Given the description of an element on the screen output the (x, y) to click on. 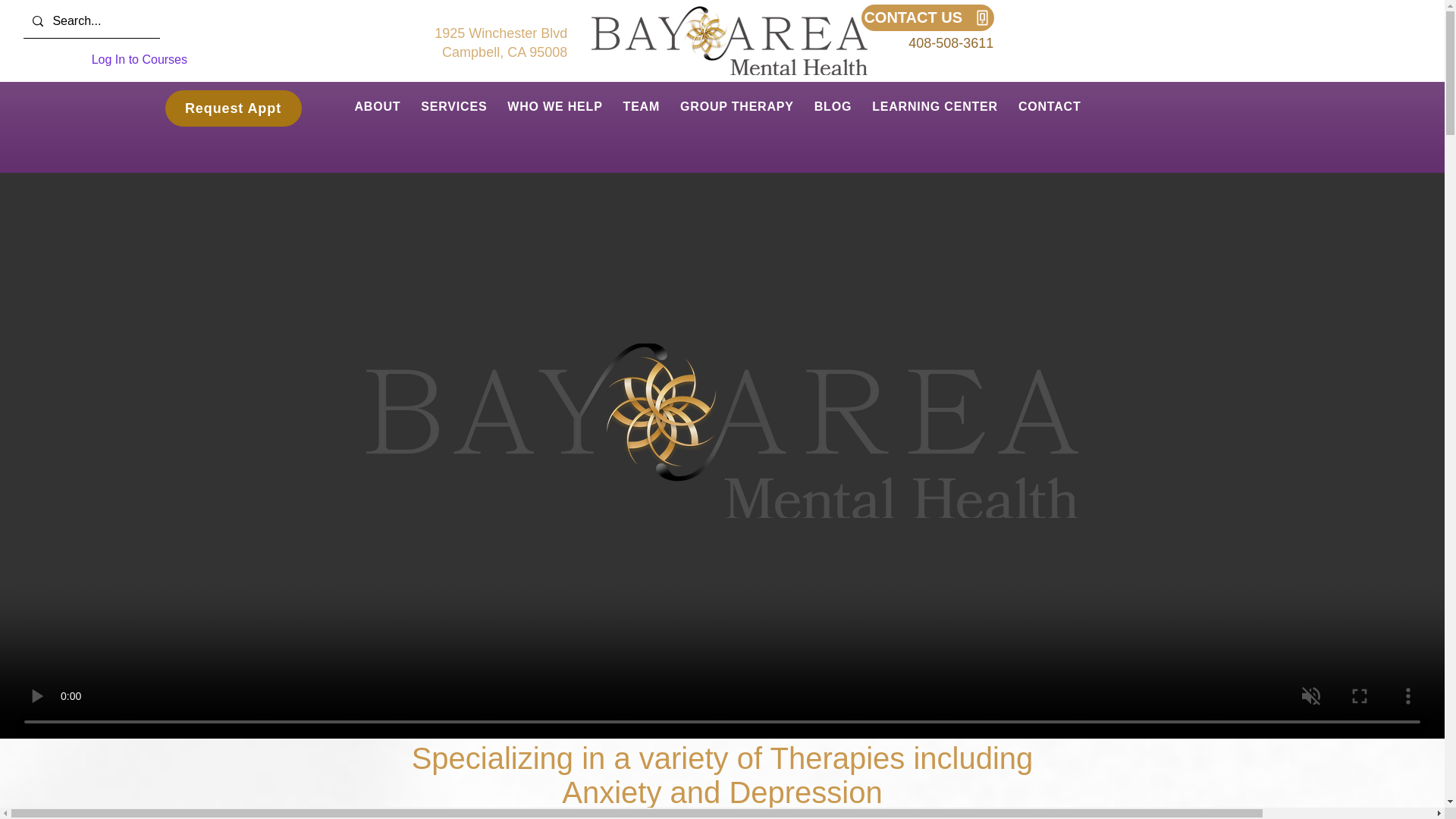
CONTACT US (927, 17)
ABOUT (384, 106)
408-508-3611 (950, 43)
Request Appt (233, 108)
Log In to Courses (500, 42)
